Given the description of an element on the screen output the (x, y) to click on. 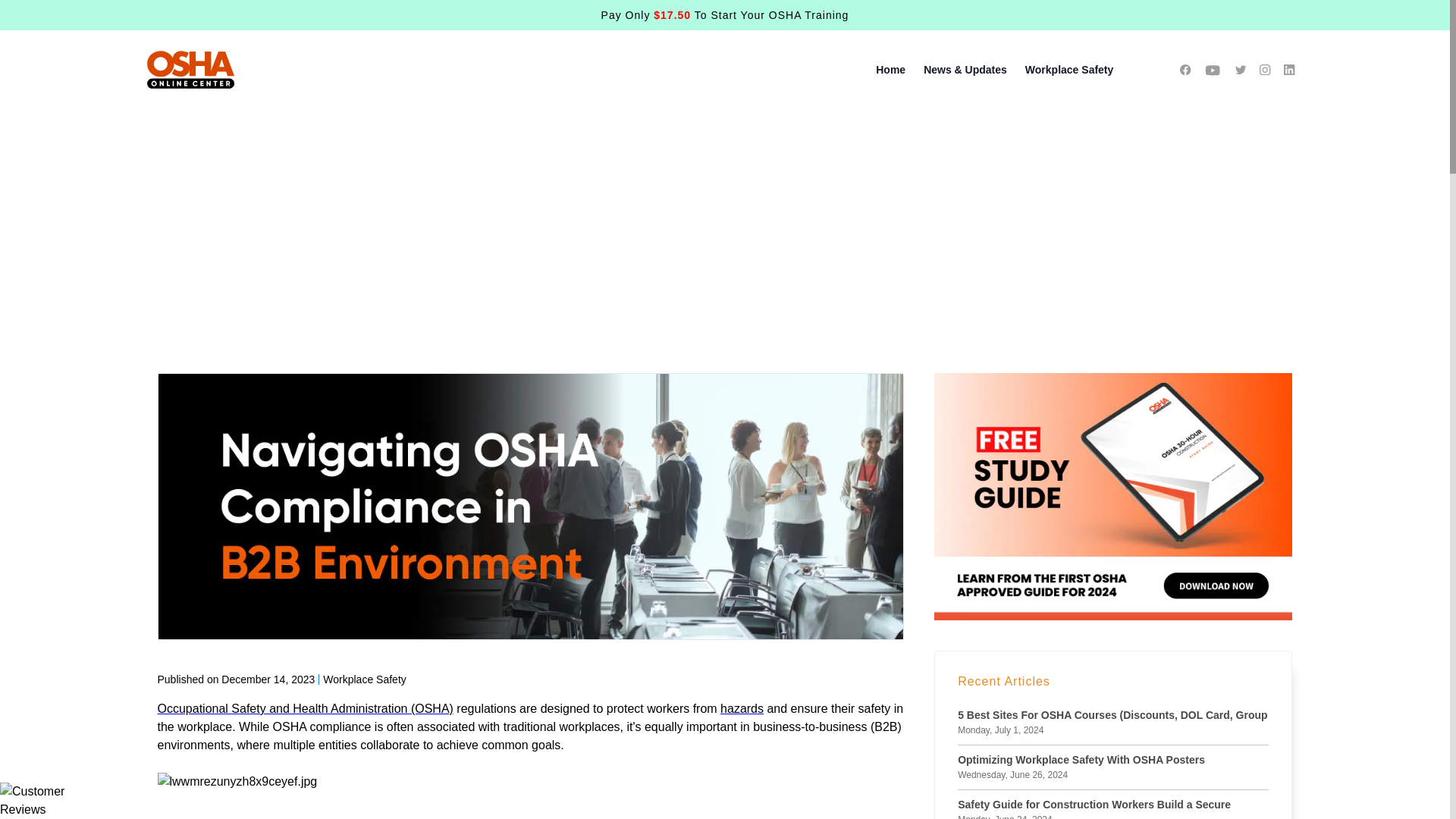
Workplace Safety (1069, 69)
Home (890, 69)
hazards (741, 707)
Optimizing Workplace Safety With OSHA Posters (1081, 760)
